Given the description of an element on the screen output the (x, y) to click on. 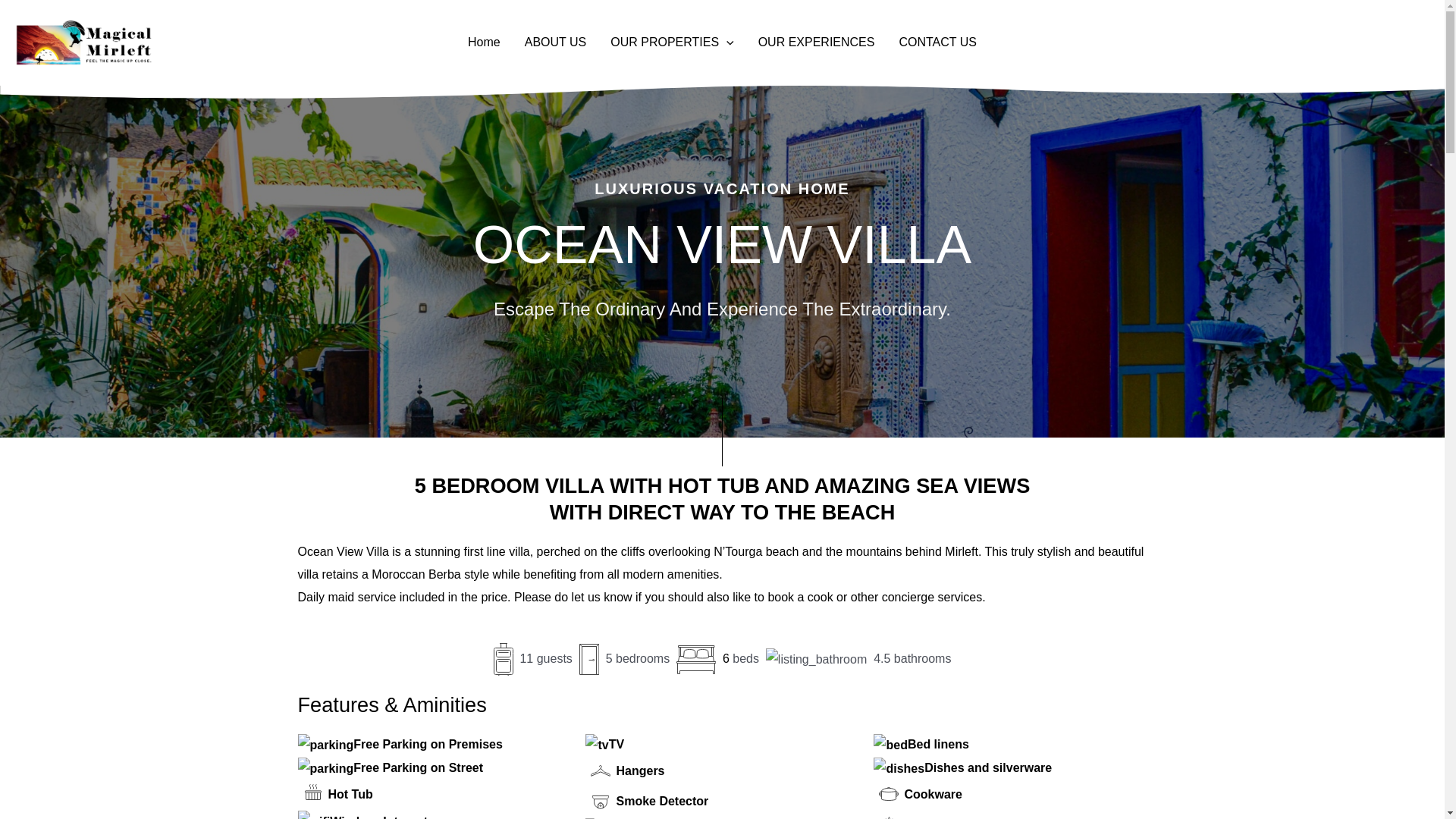
CONTACT US (937, 41)
OUR EXPERIENCES (815, 41)
OUR PROPERTIES (671, 41)
ABOUT US (555, 41)
Home (483, 41)
